Given the description of an element on the screen output the (x, y) to click on. 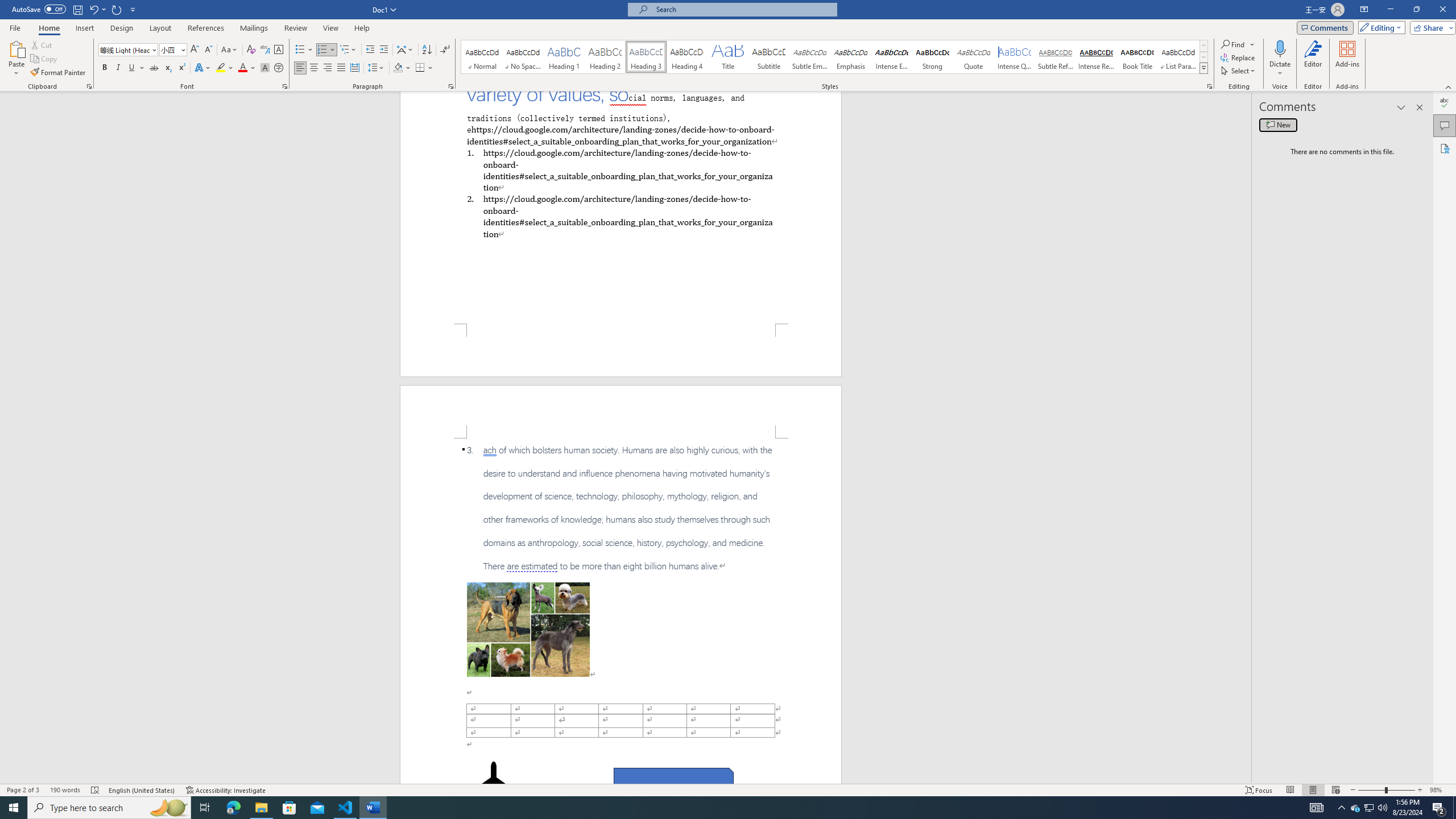
Emphasis (849, 56)
Microsoft search (742, 9)
Airplane with solid fill (493, 783)
Undo Paragraph Alignment (96, 9)
Intense Reference (1095, 56)
Book Title (1136, 56)
Font Color (246, 67)
